Given the description of an element on the screen output the (x, y) to click on. 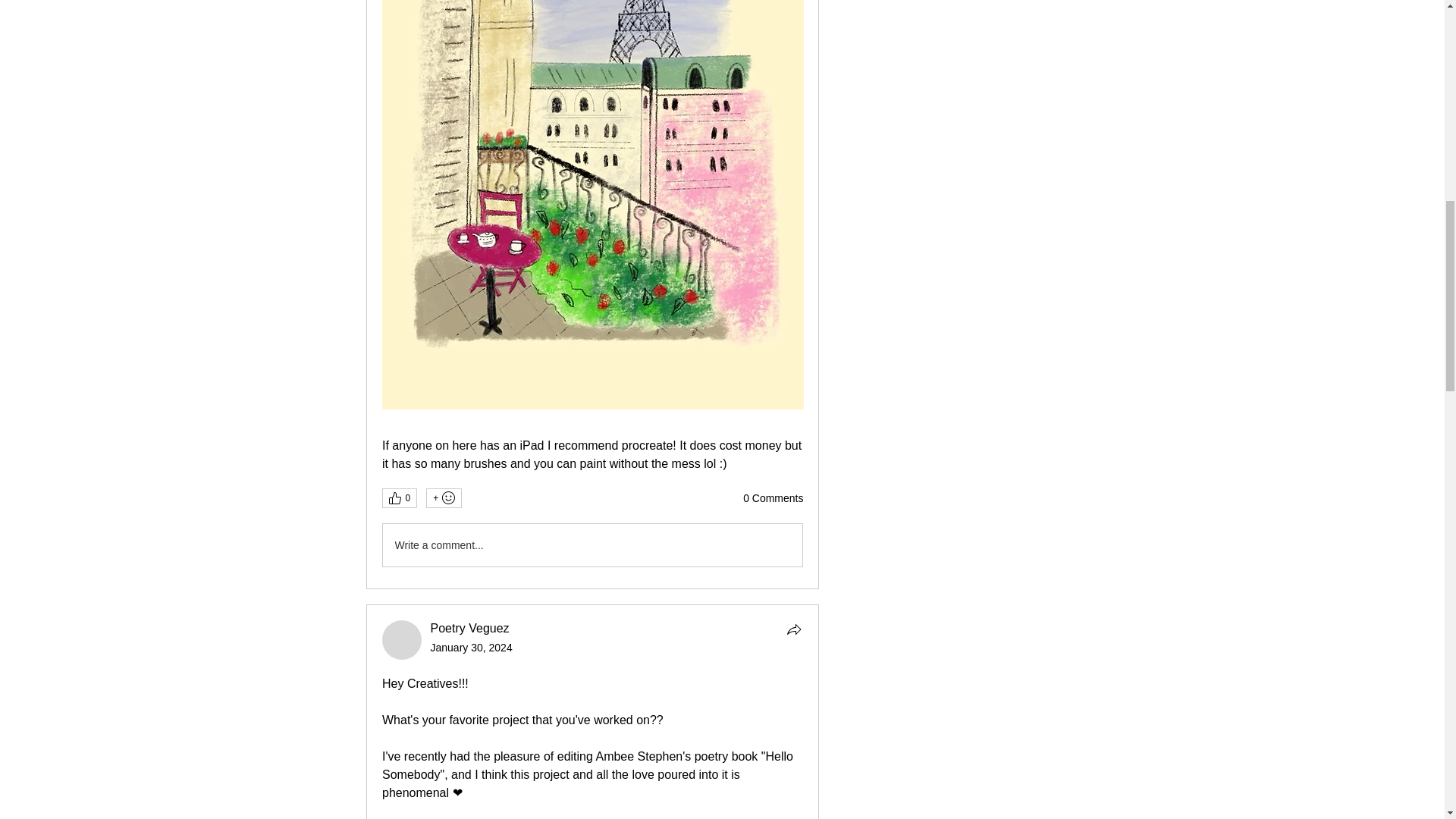
Poetry Veguez (401, 639)
